Given the description of an element on the screen output the (x, y) to click on. 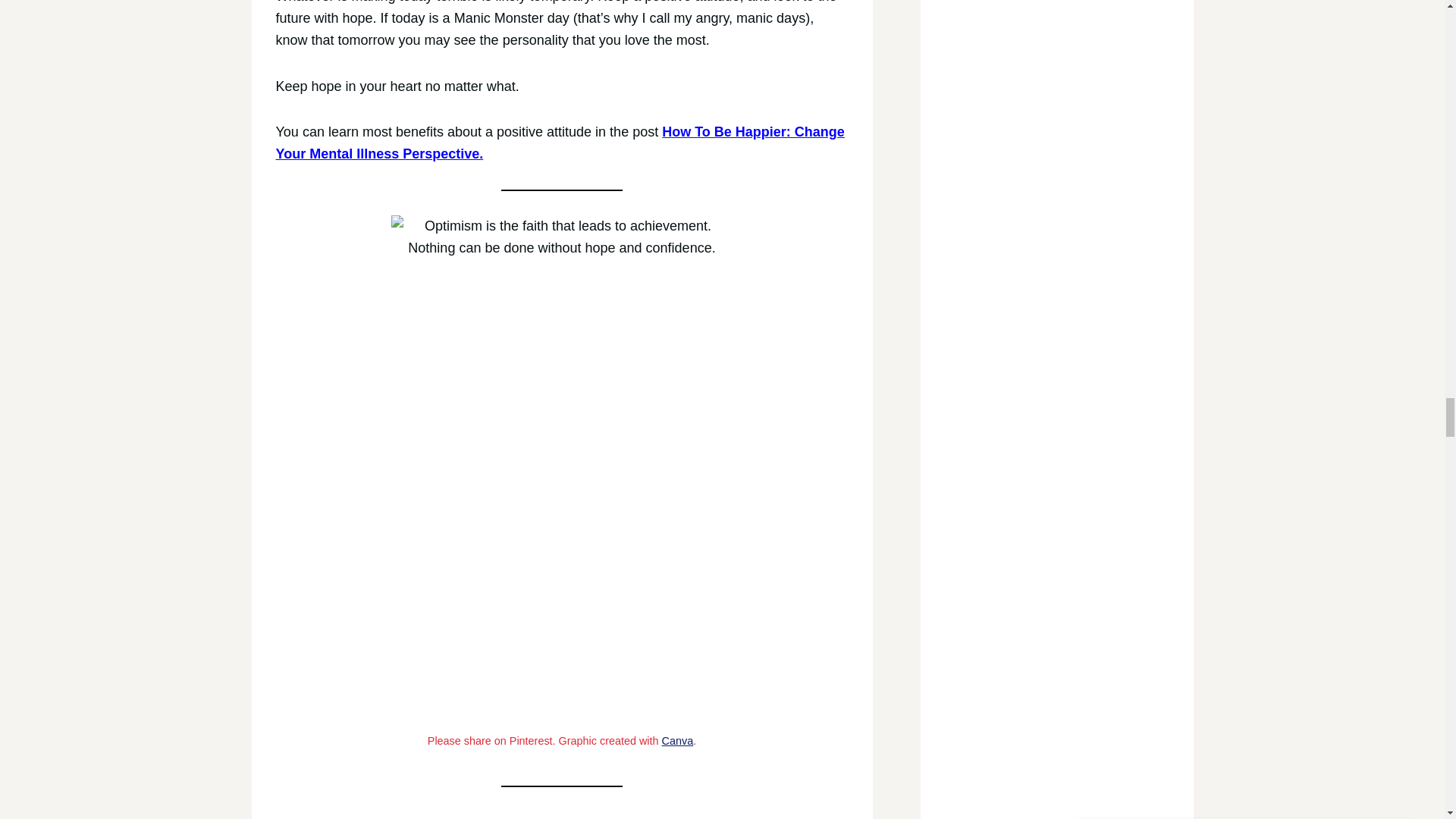
Canva (678, 740)
How To Be Happier: Change Your Mental Illness Perspective. (560, 142)
